Given the description of an element on the screen output the (x, y) to click on. 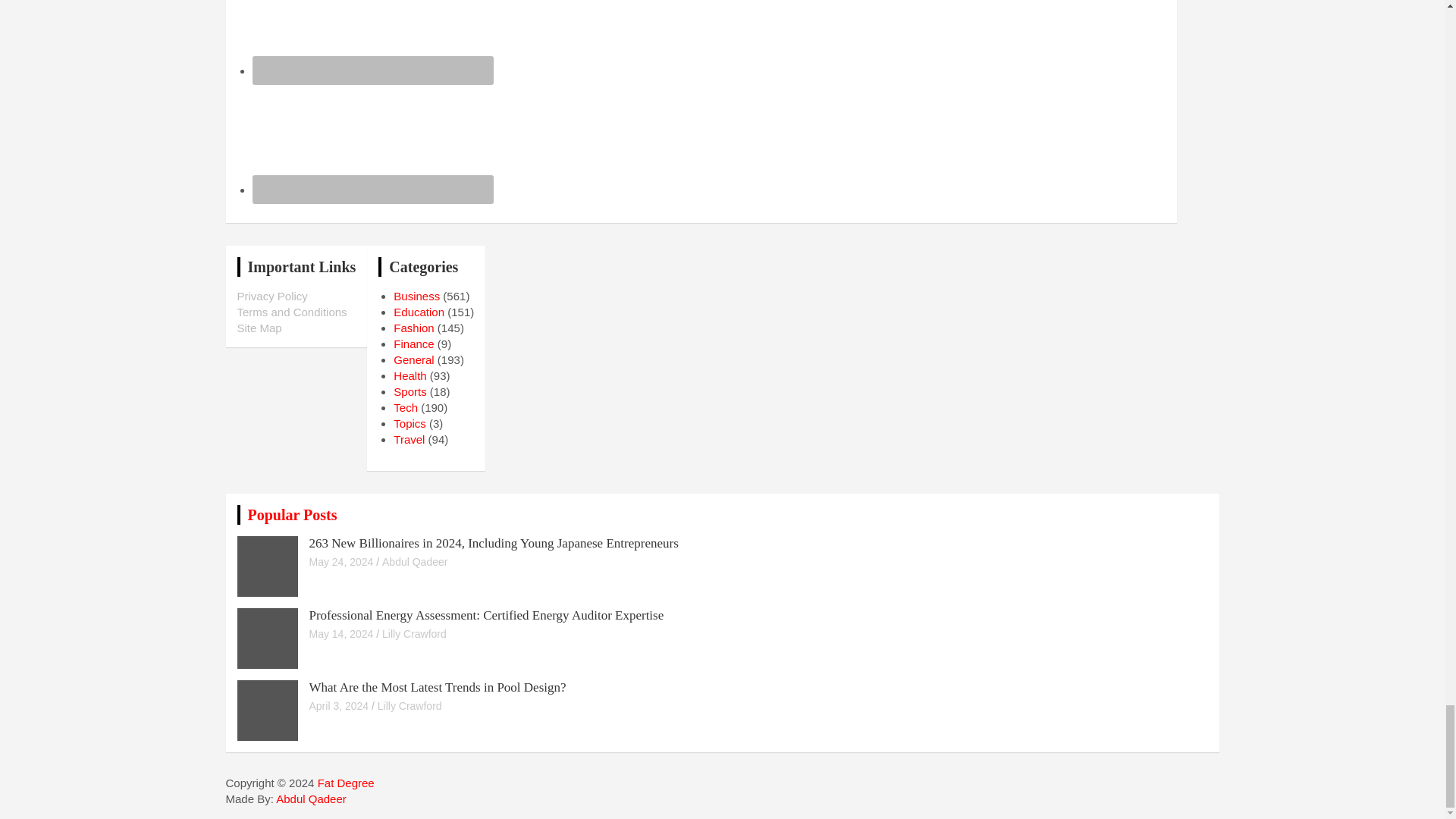
Twitter (372, 137)
Tumblr (372, 37)
